Given the description of an element on the screen output the (x, y) to click on. 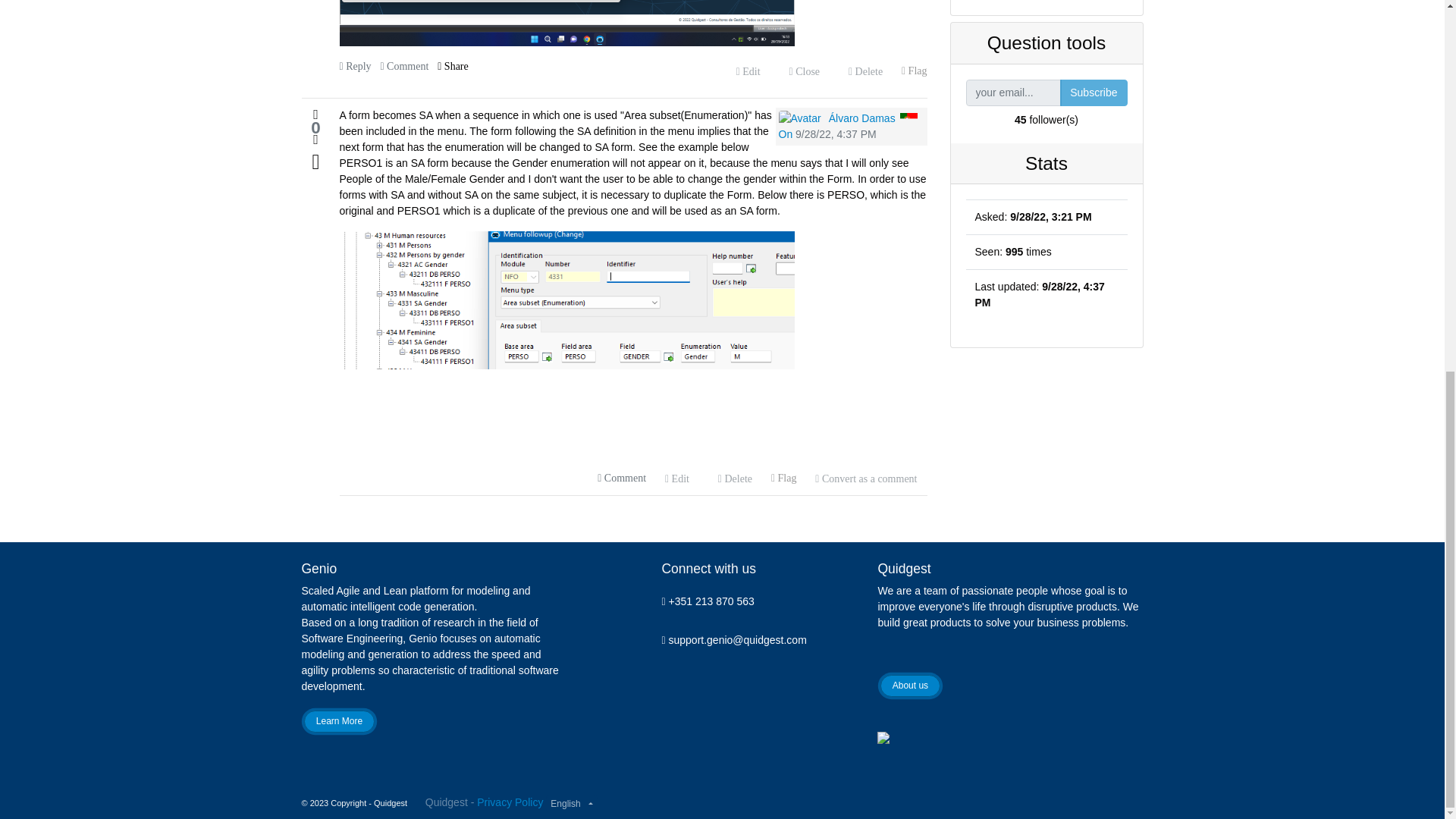
Reply (355, 66)
Delete (865, 71)
Share (453, 66)
Flag (914, 71)
Edit (748, 71)
Close (803, 71)
Comment (404, 66)
